Given the description of an element on the screen output the (x, y) to click on. 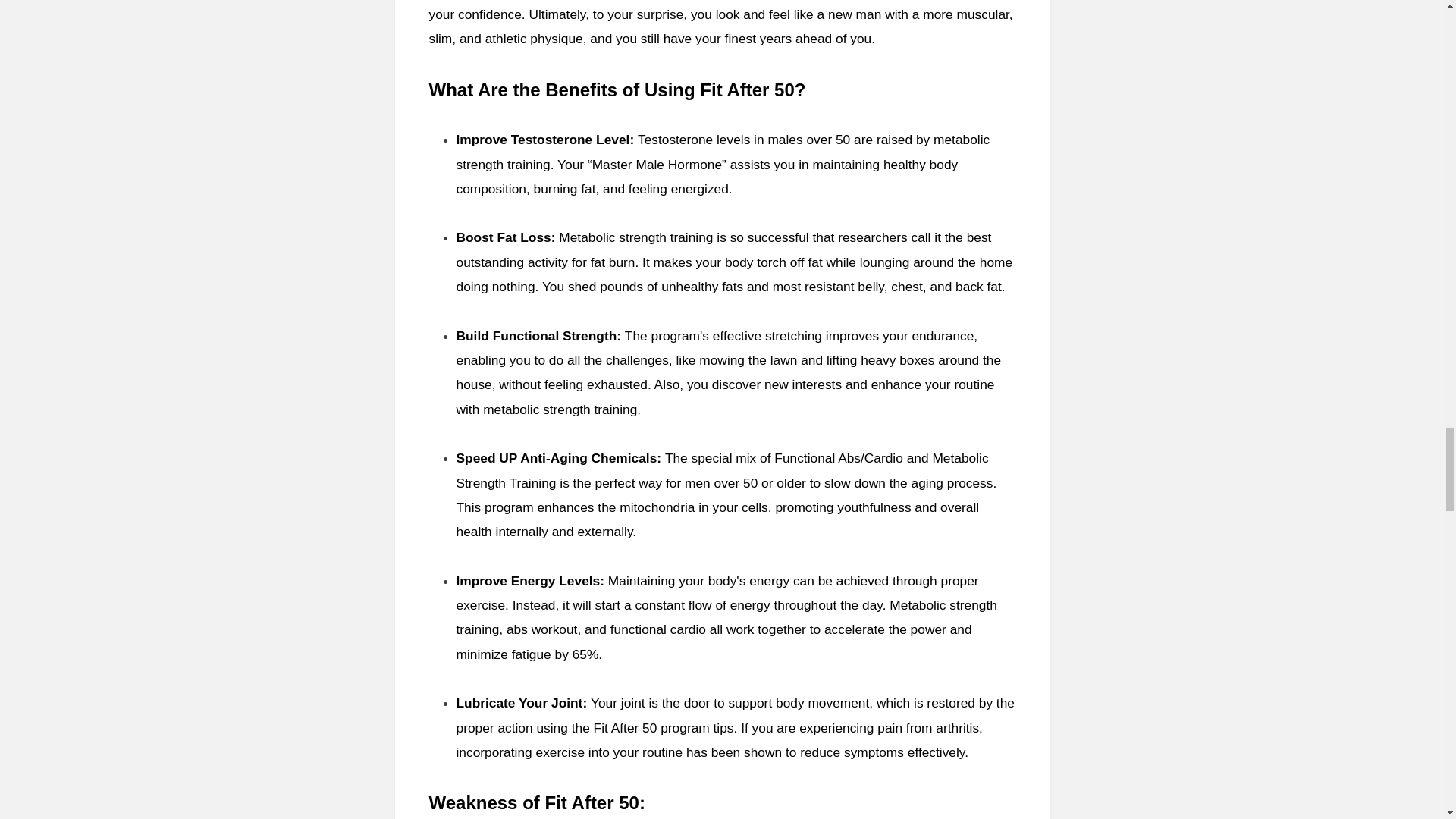
Improve Testosterone Level (543, 139)
